Given the description of an element on the screen output the (x, y) to click on. 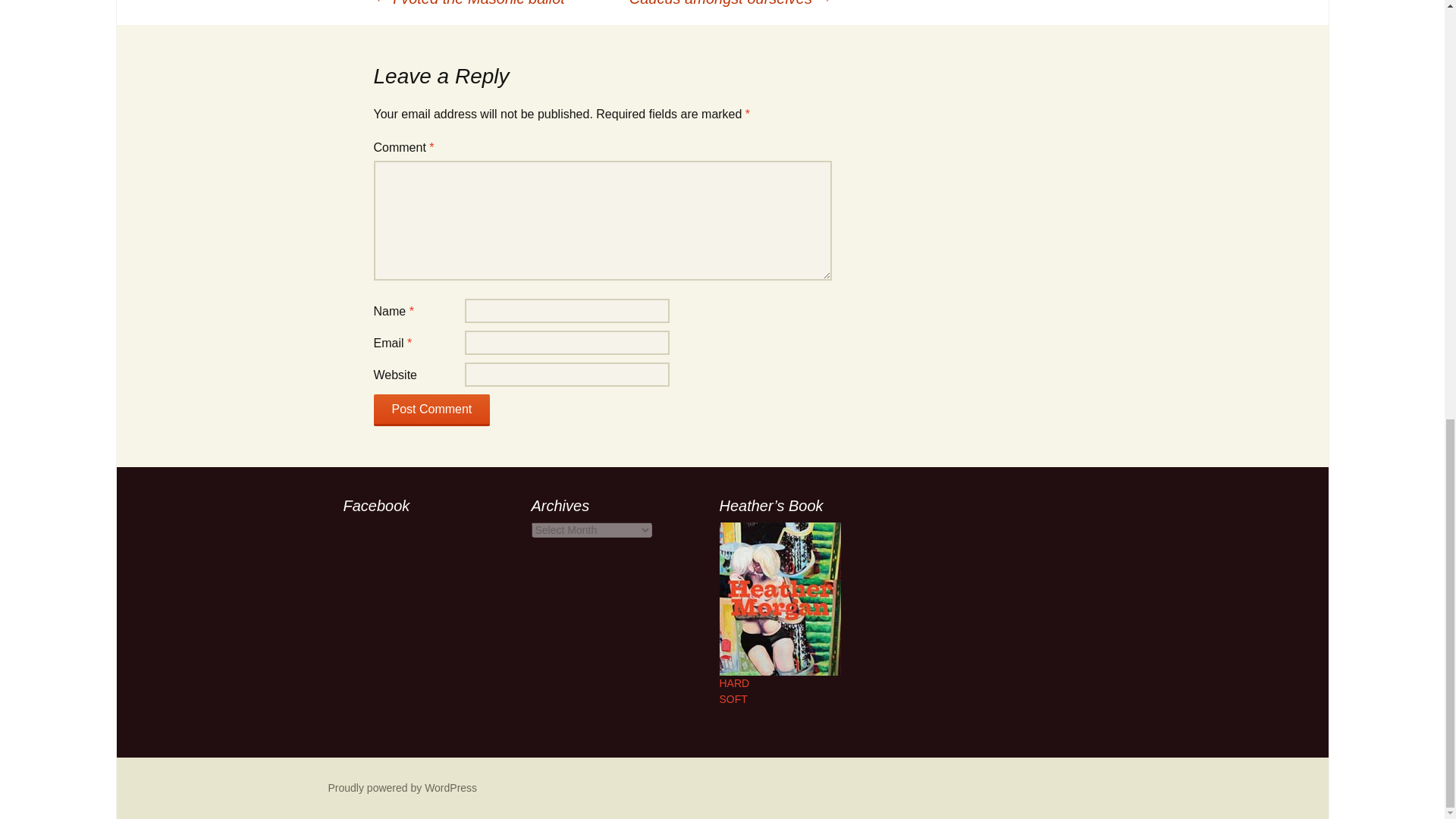
Post Comment (430, 409)
Post Comment (430, 409)
Semantic Personal Publishing Platform (402, 787)
